Given the description of an element on the screen output the (x, y) to click on. 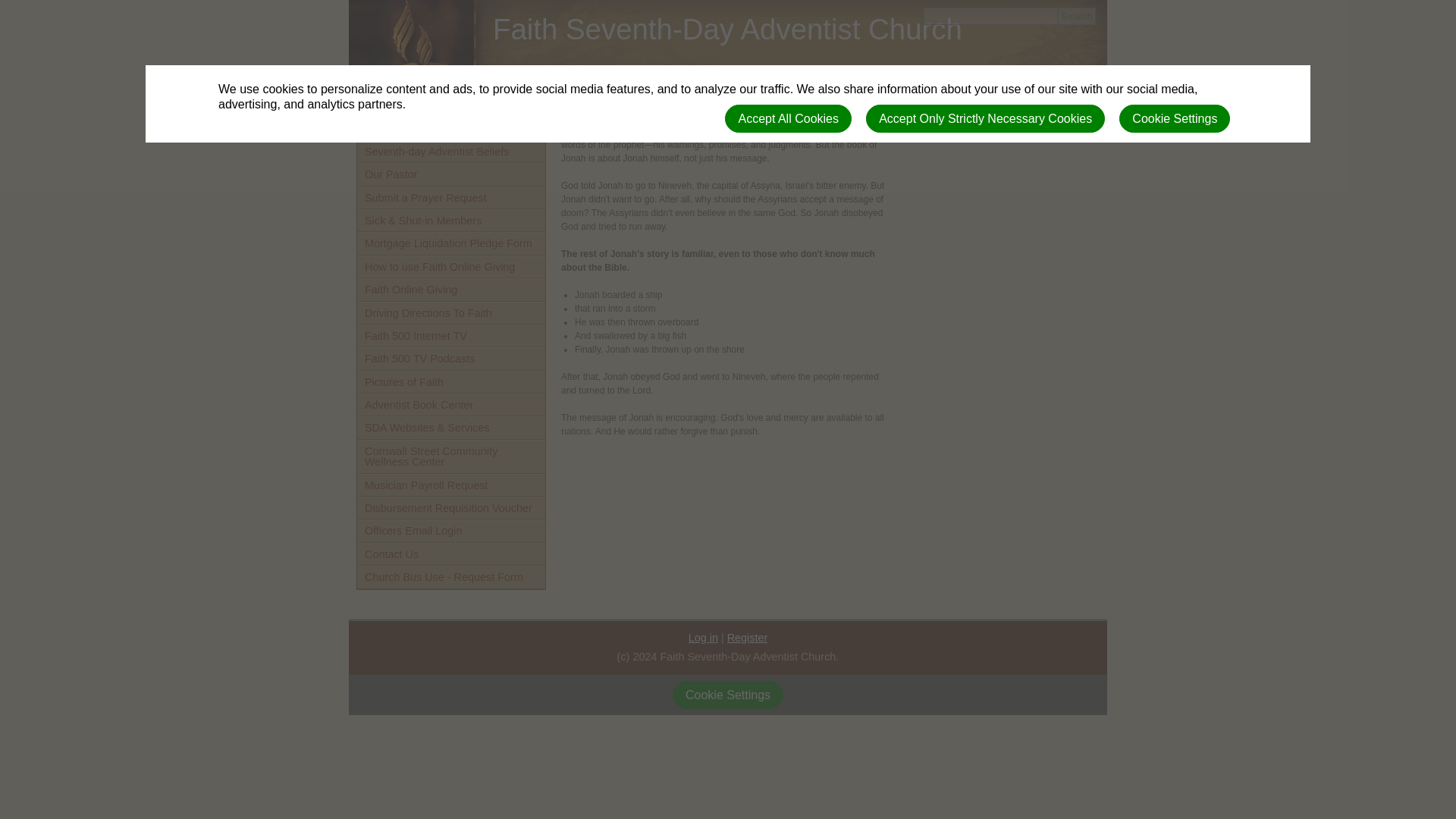
Submit a Prayer Request (450, 197)
Officers Email Login (450, 530)
How to use Faith Online Giving (450, 266)
Adventist Book Center (450, 404)
About Us (450, 128)
Our Pastor (450, 173)
Cornwall Street Community Wellness Center (450, 456)
Driving Directions To Faith (450, 313)
Home (450, 105)
Disbursement Requisition Voucher (450, 507)
